Given the description of an element on the screen output the (x, y) to click on. 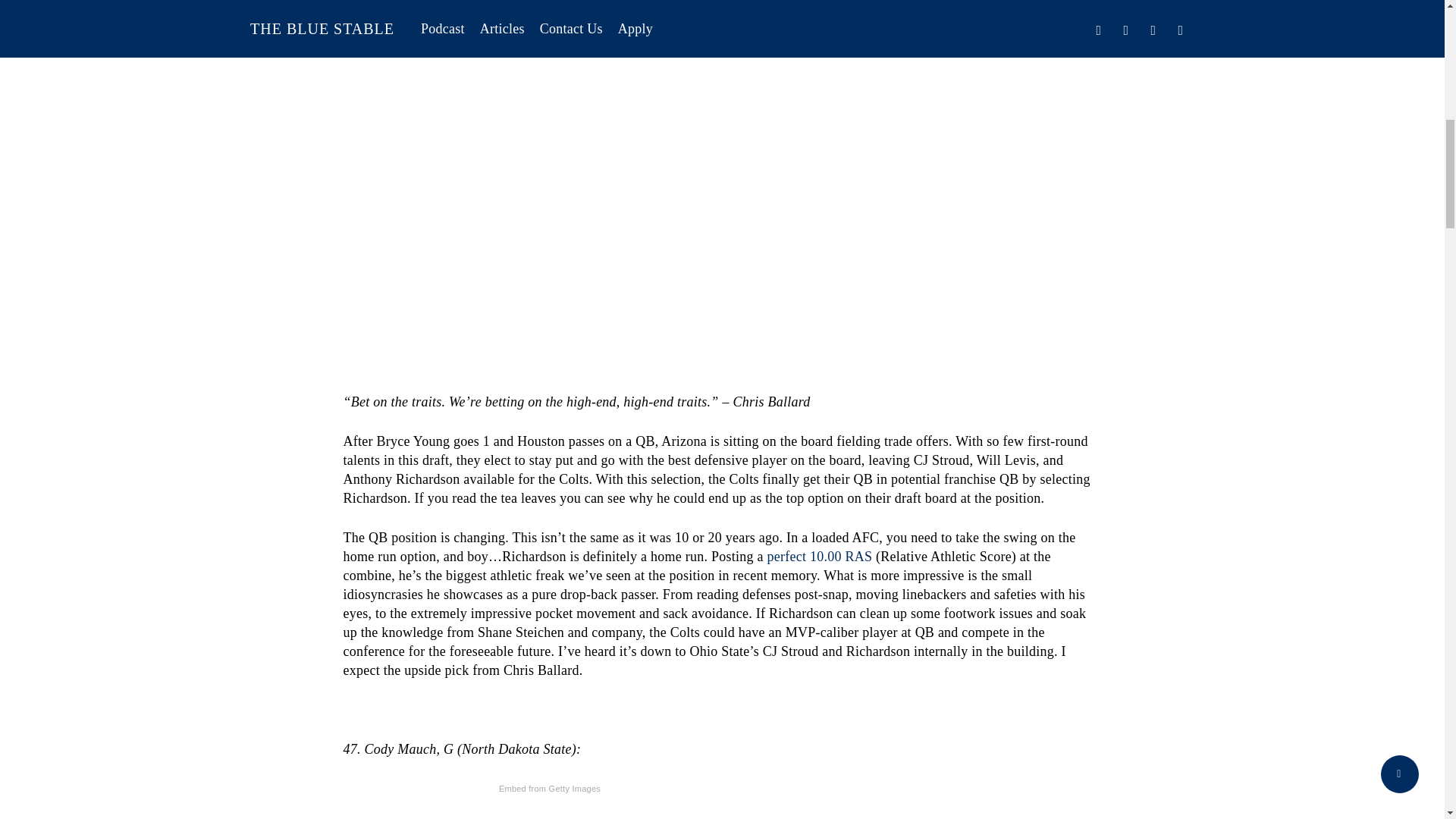
Embed from Getty Images (549, 788)
perfect 10.00 RAS (819, 556)
Embed from Getty Images (549, 18)
